Given the description of an element on the screen output the (x, y) to click on. 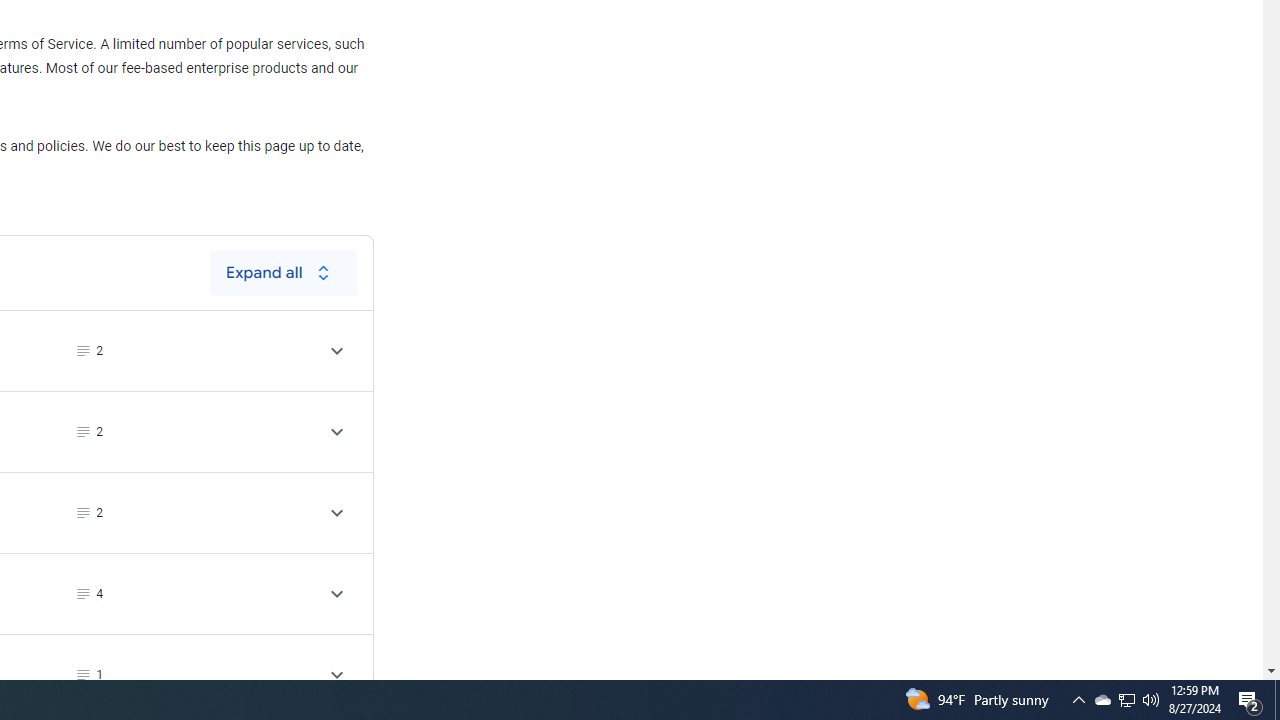
Expand all (283, 272)
